Given the description of an element on the screen output the (x, y) to click on. 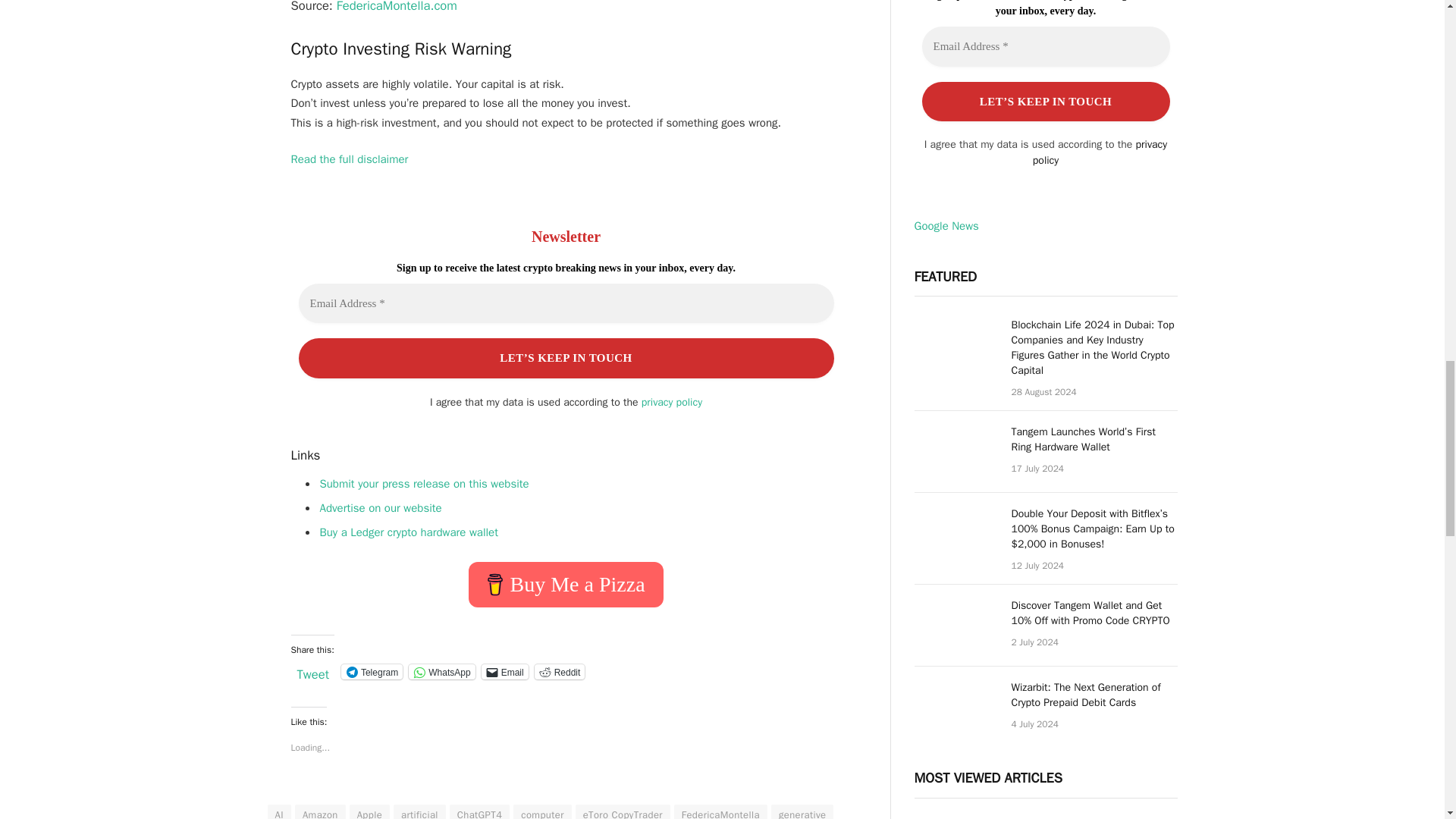
Click to share on WhatsApp (441, 671)
Email Address (566, 303)
Click to share on Telegram (371, 671)
